Given the description of an element on the screen output the (x, y) to click on. 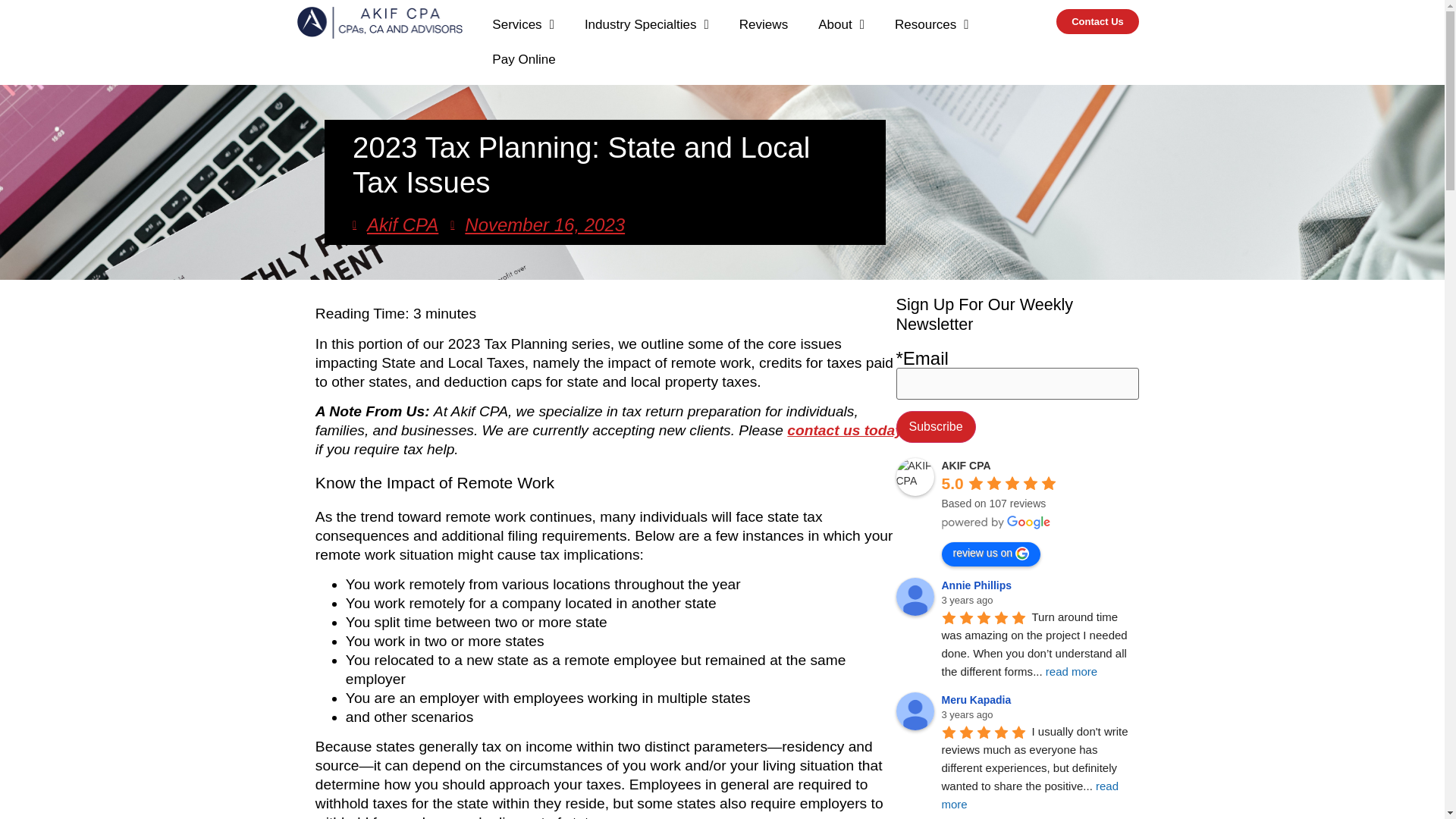
Meru Kapadia (915, 711)
Subscribe (935, 427)
Services (523, 24)
Annie Phillips (915, 596)
Reviews (763, 24)
AKIF CPA (915, 476)
powered by Google (996, 522)
Resources (931, 24)
About (841, 24)
Industry Specialties (646, 24)
